Given the description of an element on the screen output the (x, y) to click on. 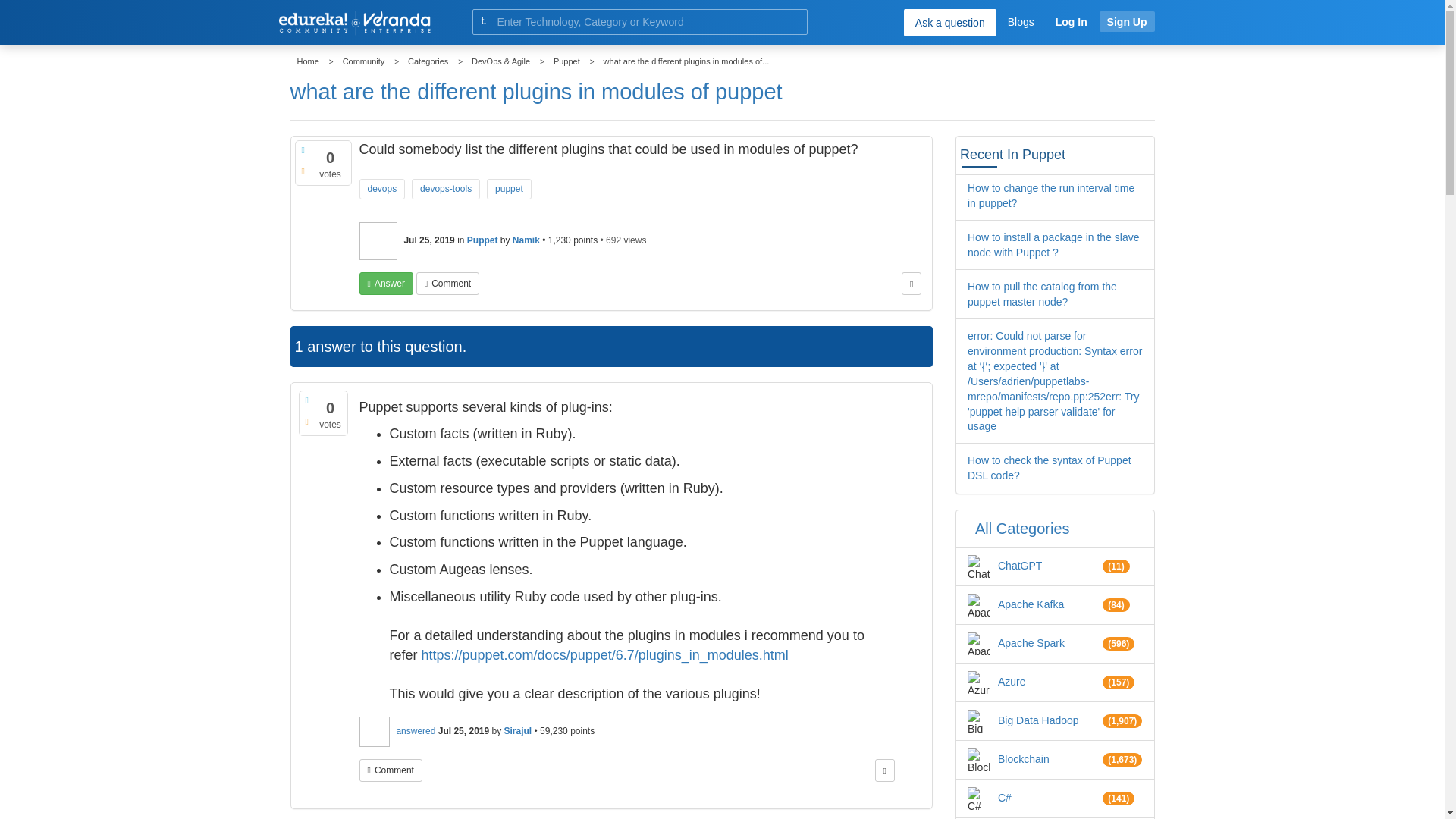
Ask a question (949, 22)
Answer this question (386, 282)
Blogs (1020, 21)
Add a comment on this question (447, 282)
Add a comment on this answer (390, 770)
